Given the description of an element on the screen output the (x, y) to click on. 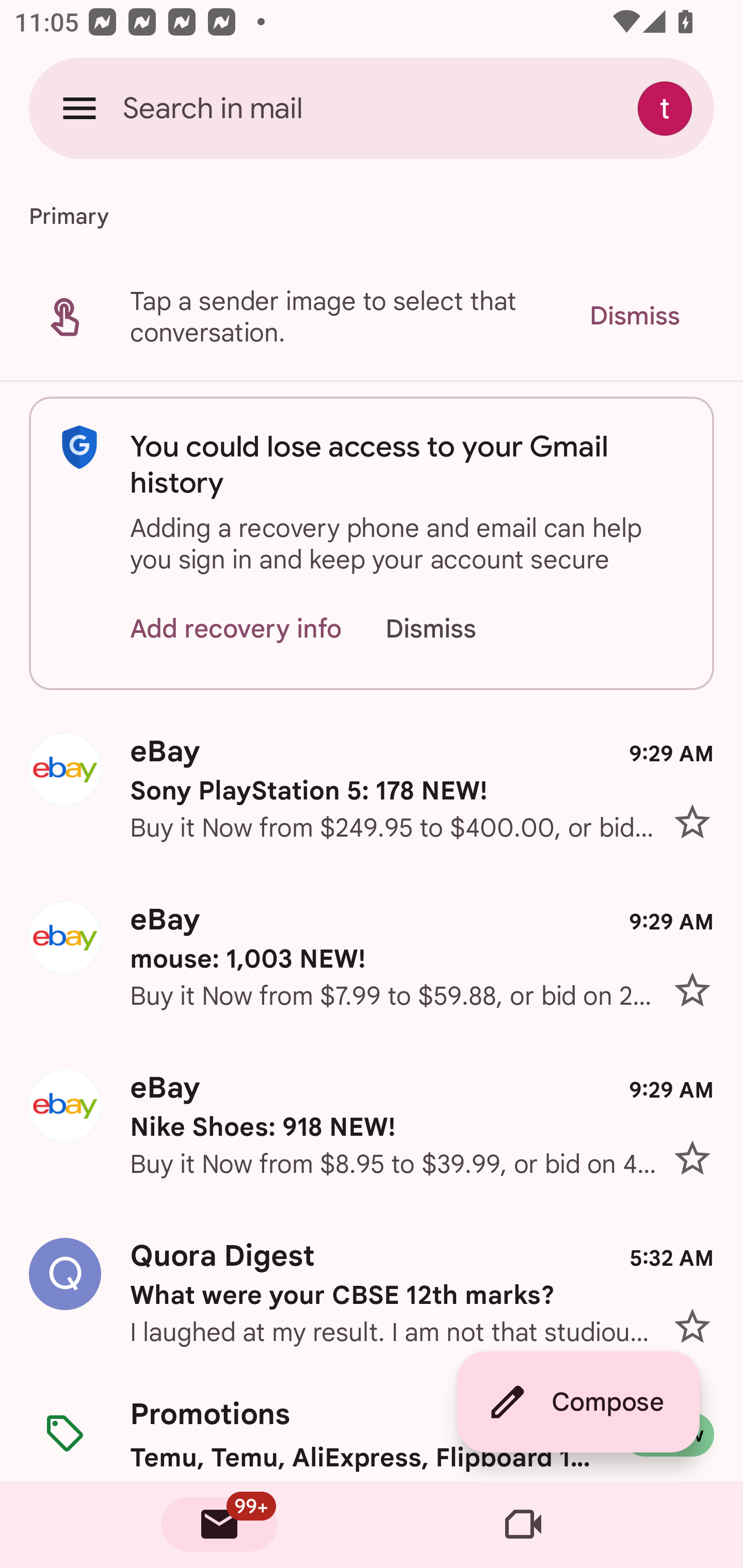
Open navigation drawer (79, 108)
Dismiss Dismiss tip (634, 315)
Add recovery info (235, 628)
Dismiss (449, 628)
Compose (577, 1401)
Meet (523, 1524)
